Given the description of an element on the screen output the (x, y) to click on. 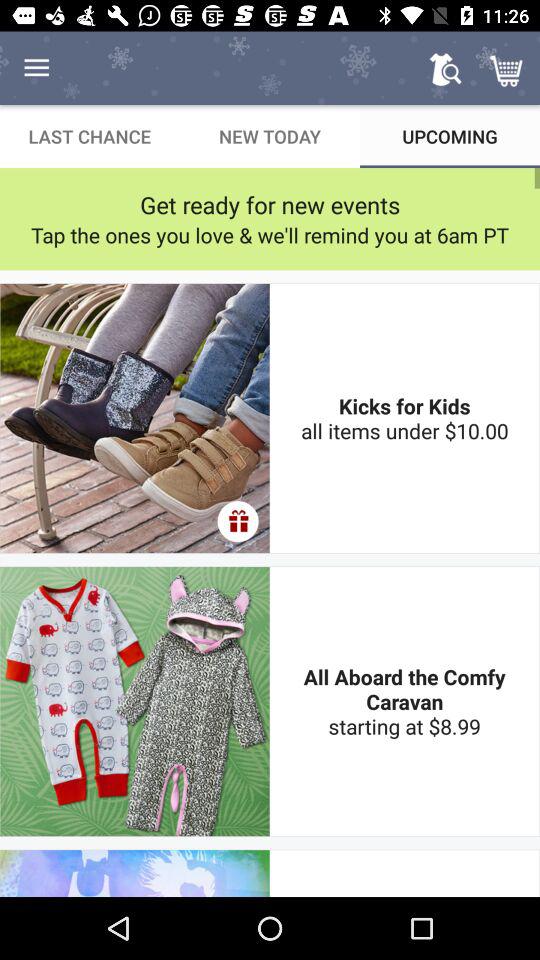
tap item above the upcoming icon (444, 67)
